Given the description of an element on the screen output the (x, y) to click on. 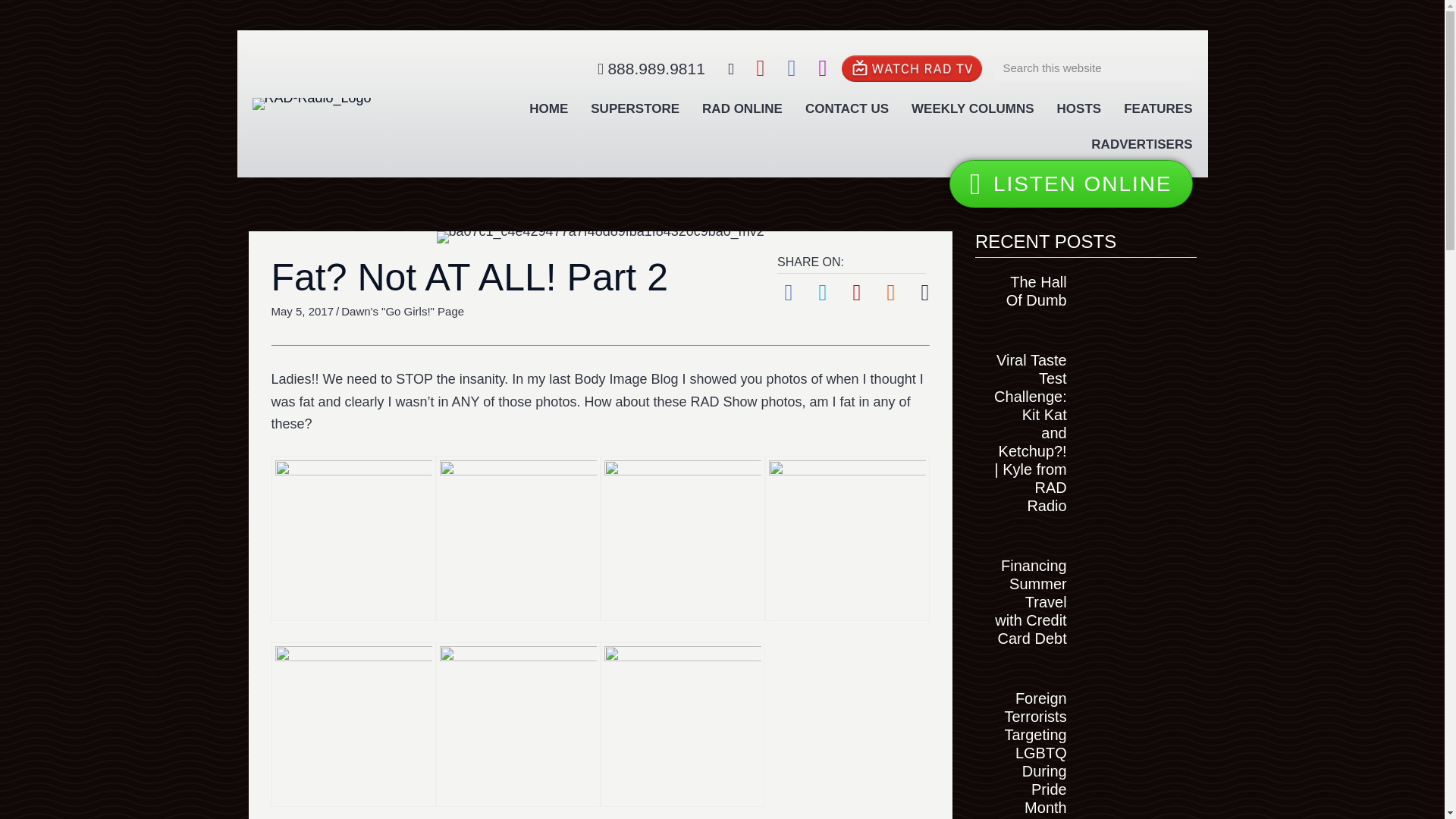
SUPERSTORE (635, 108)
HOSTS (1079, 108)
The Hall Of Dumb (1036, 290)
RAD ONLINE (742, 108)
CONTACT US (846, 108)
888.989.9811 (651, 69)
HOME (548, 108)
